Given the description of an element on the screen output the (x, y) to click on. 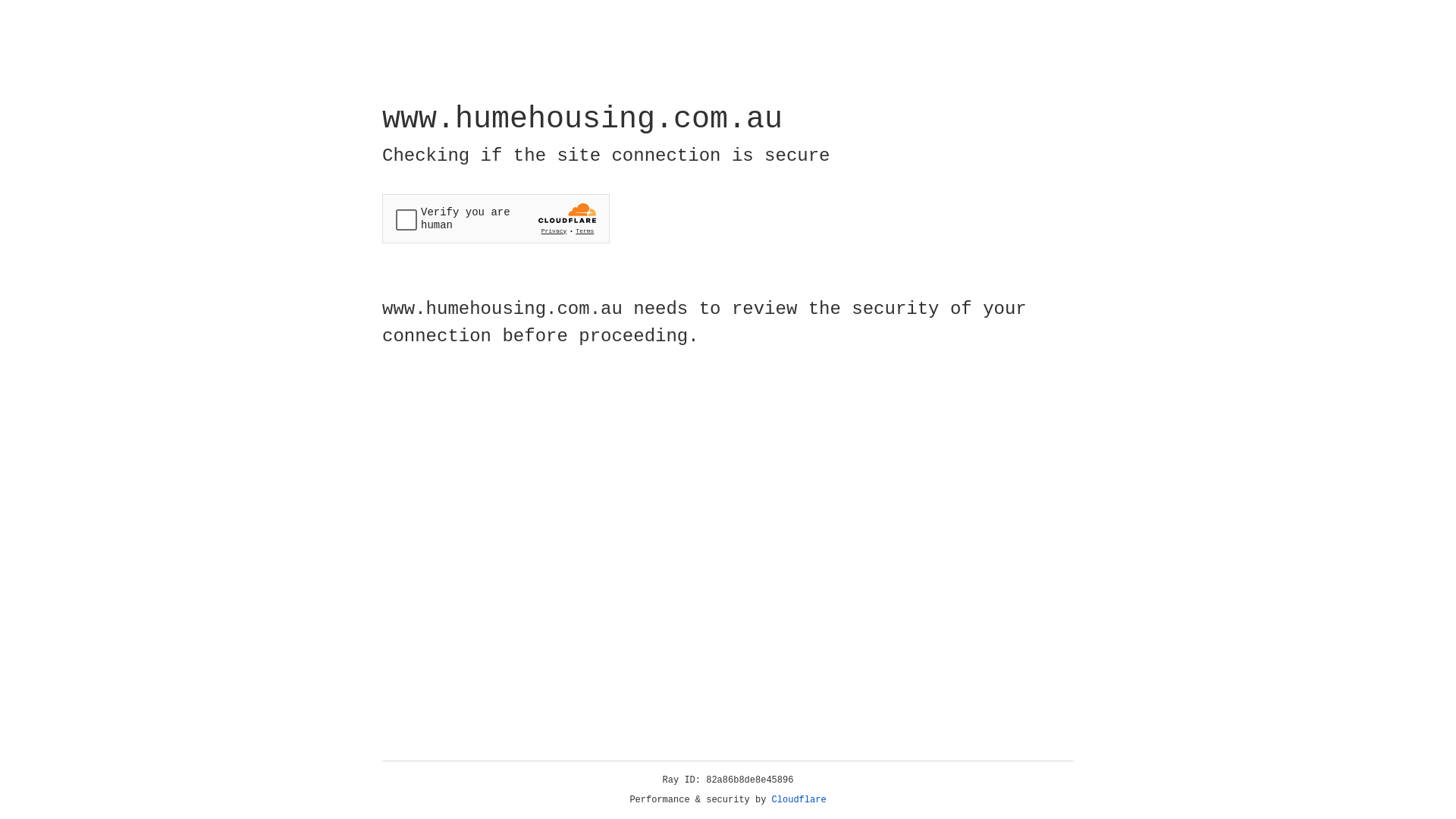
Widget containing a Cloudflare security challenge Element type: hover (495, 218)
Cloudflare Element type: text (798, 799)
